Given the description of an element on the screen output the (x, y) to click on. 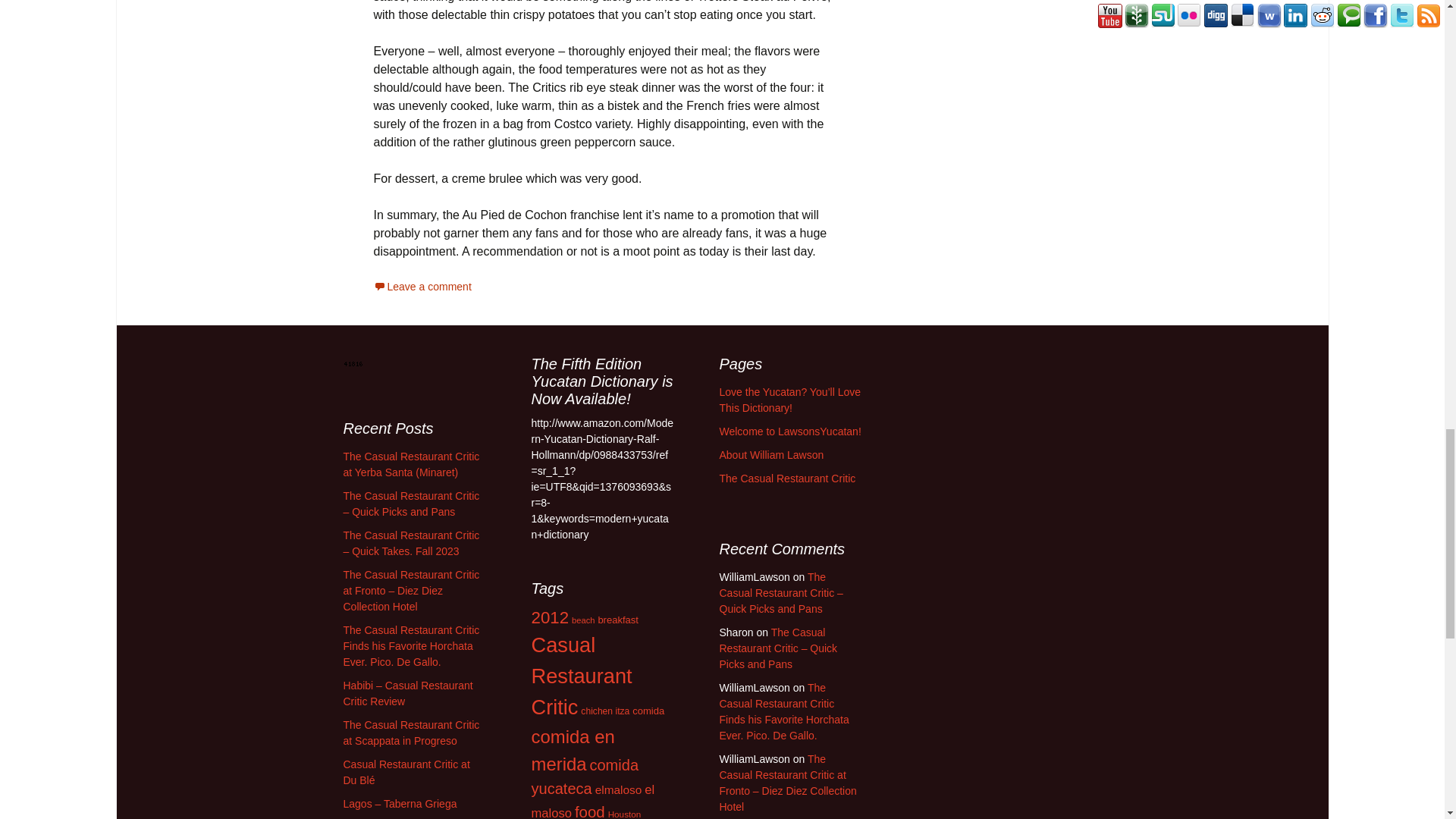
free web stats (352, 363)
About William Lawson (771, 454)
The Casual Restaurant Critic (787, 478)
Welcome to LawsonsYucatan! (789, 431)
Leave a comment (421, 286)
